Given the description of an element on the screen output the (x, y) to click on. 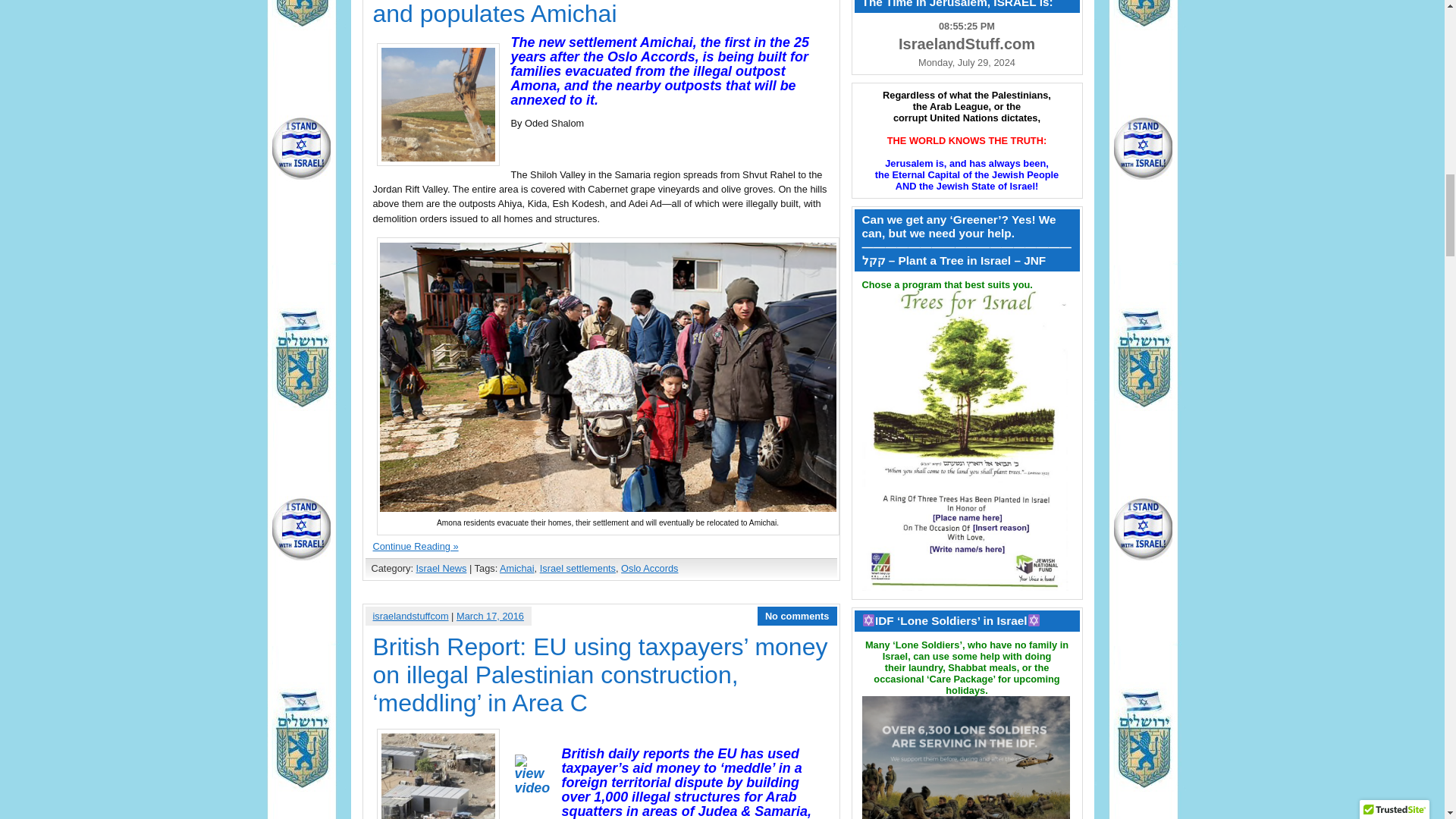
Posts by israelandstuffcom (410, 614)
